Given the description of an element on the screen output the (x, y) to click on. 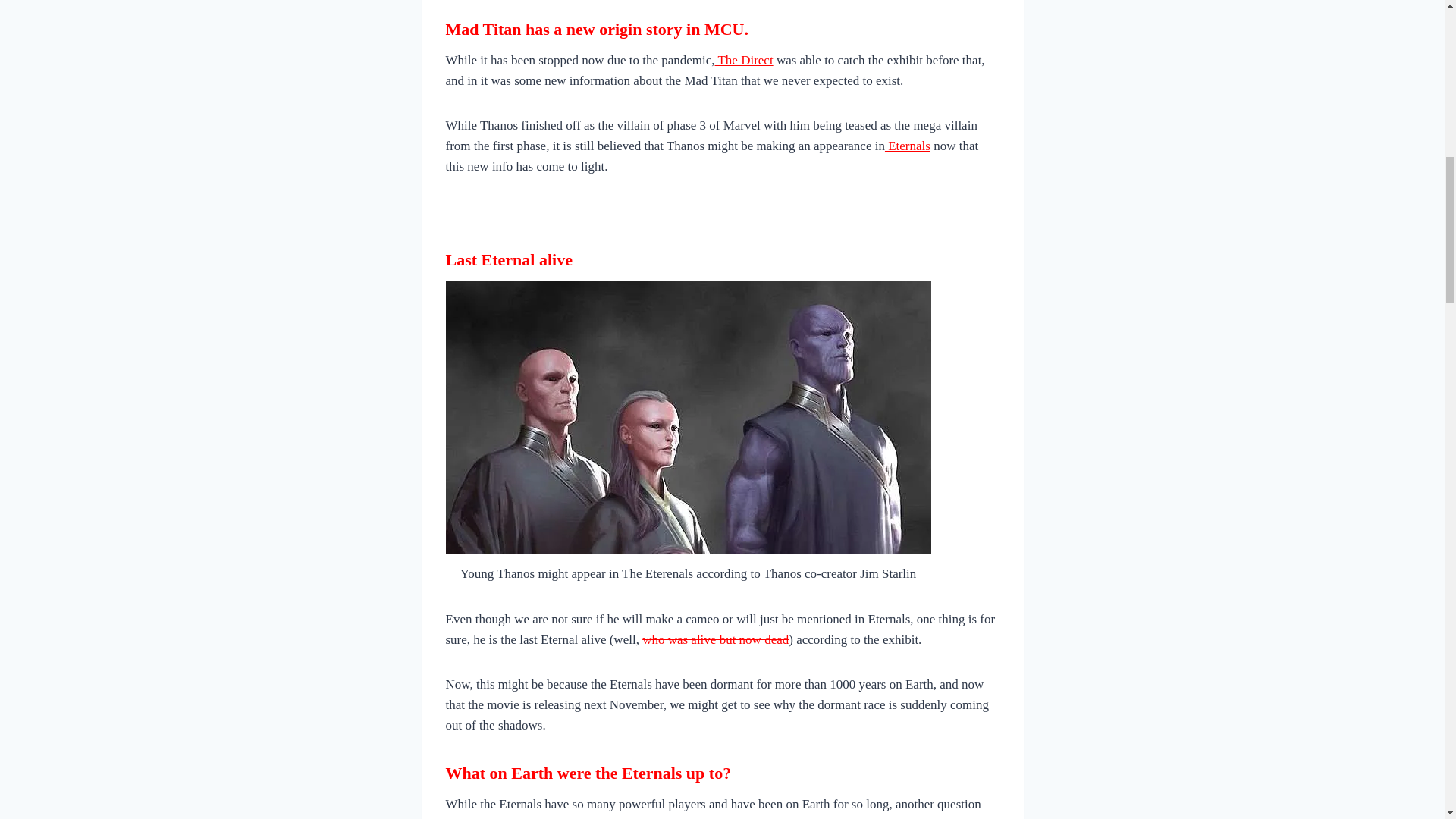
Endgame (801, 818)
Infinity War (720, 818)
The Direct (743, 60)
who was alive but now dead (715, 639)
Eternals (907, 145)
